Given the description of an element on the screen output the (x, y) to click on. 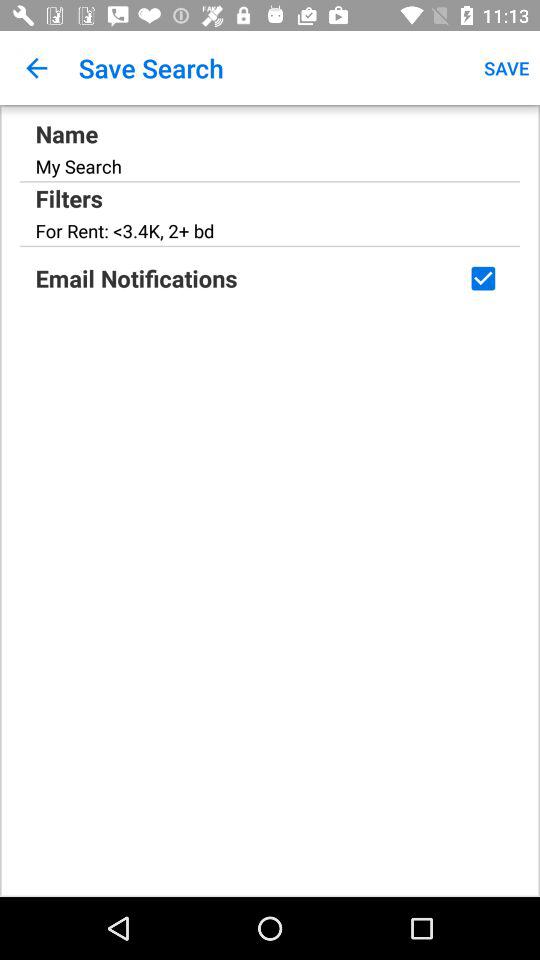
receive email notifications (483, 278)
